Given the description of an element on the screen output the (x, y) to click on. 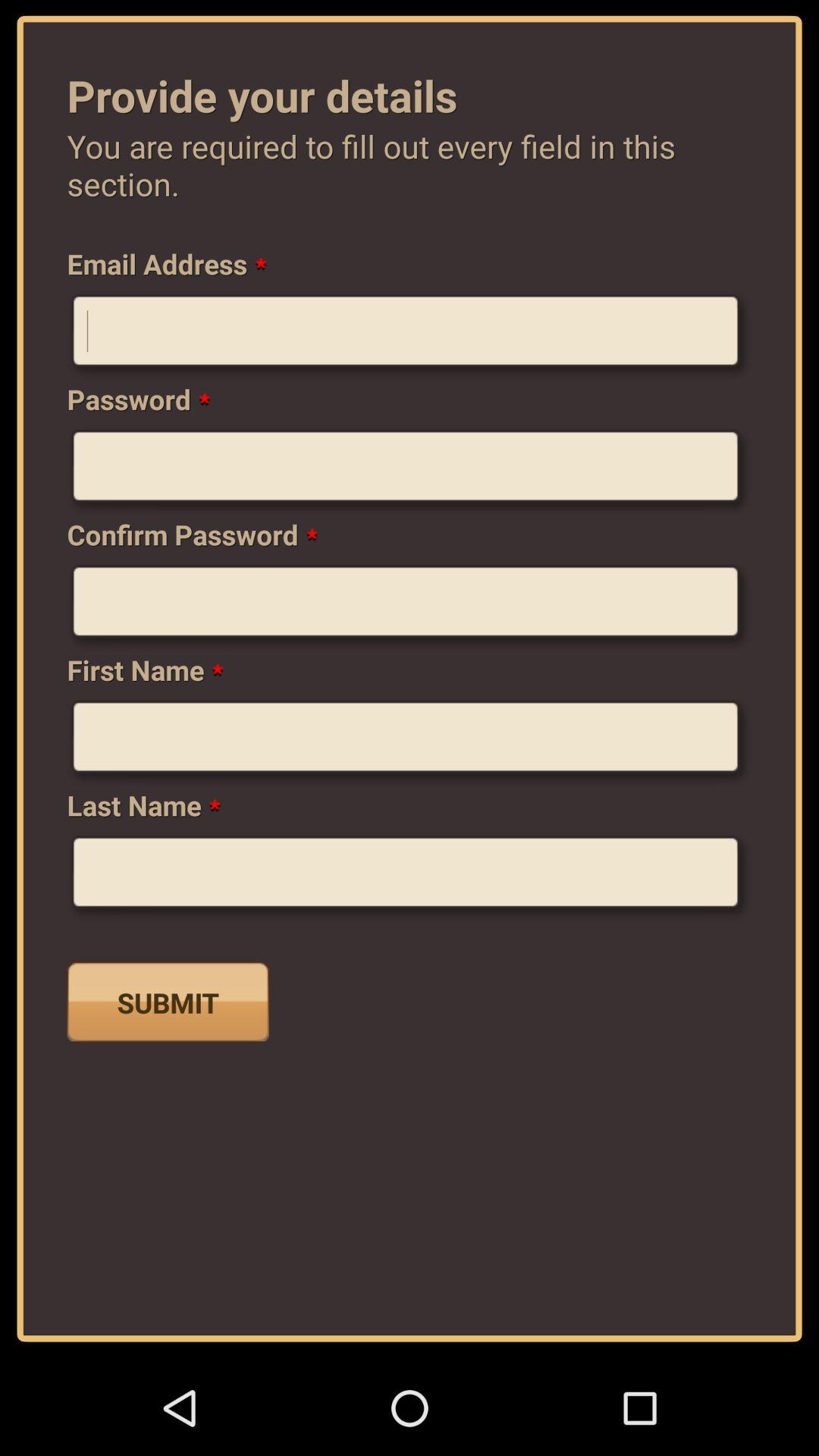
confirm password text box (409, 607)
